Given the description of an element on the screen output the (x, y) to click on. 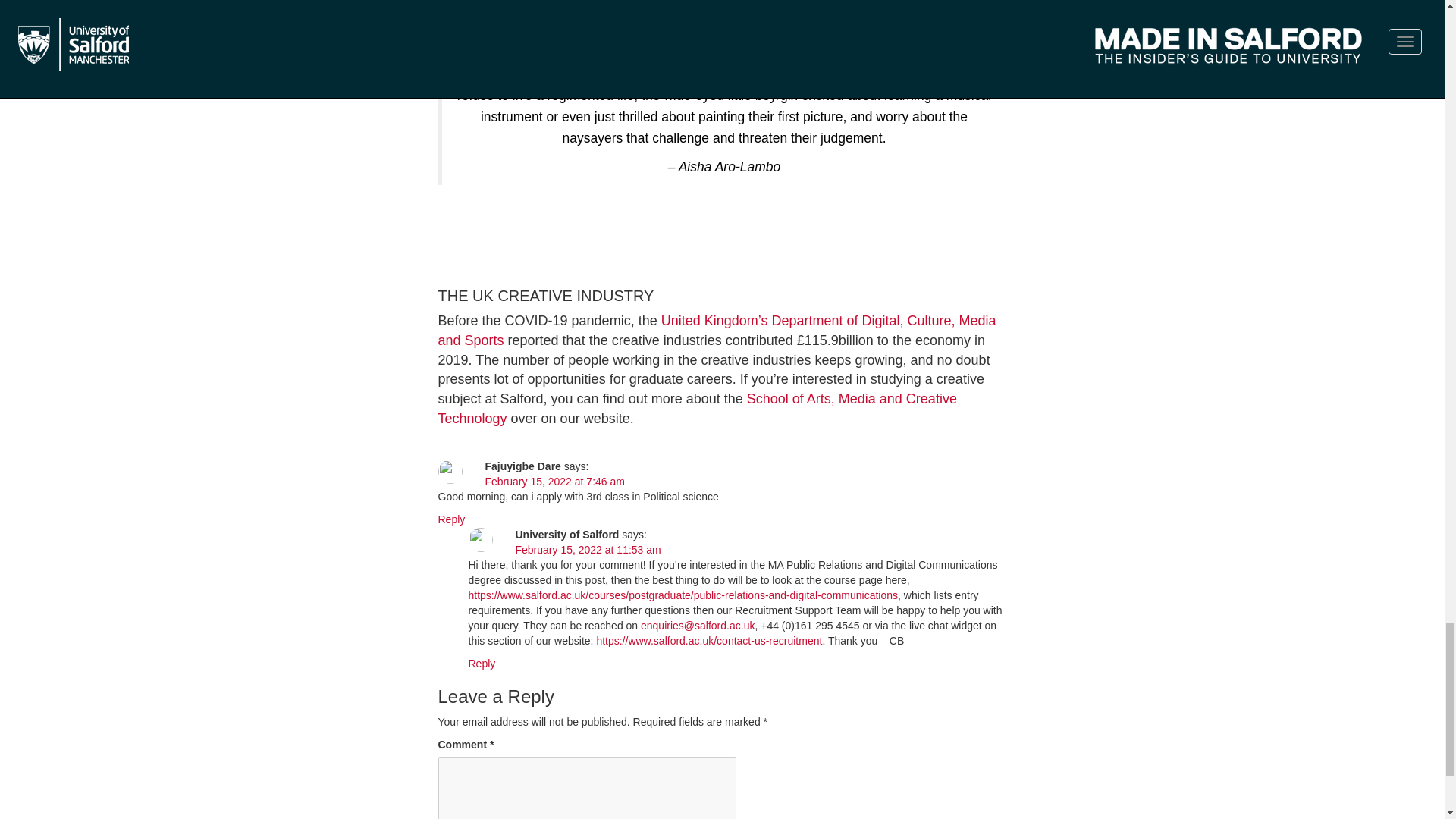
School of Arts, Media and Creative Technology (697, 408)
February 15, 2022 at 11:53 am (588, 549)
February 15, 2022 at 7:46 am (554, 481)
Reply (451, 519)
Reply (482, 663)
